Given the description of an element on the screen output the (x, y) to click on. 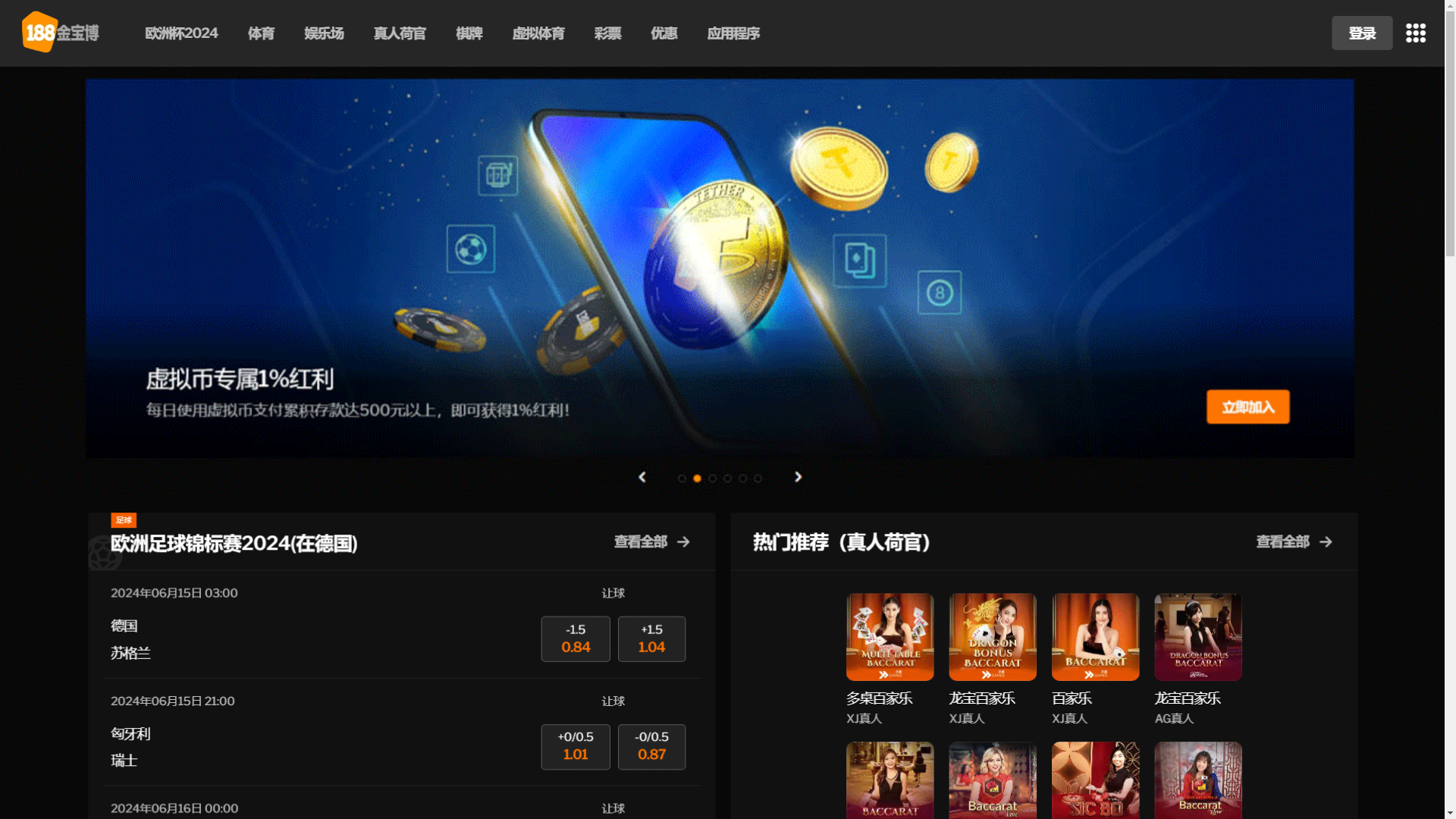
Support (1032, 45)
188asia.net (905, 132)
The Gale Blog (354, 54)
188asia.bet (574, 132)
Search for: (1069, 218)
My Account (961, 45)
Find Rep (1098, 45)
Schools (493, 132)
Thorndike Press (674, 132)
Subscribe (1029, 439)
